Given the description of an element on the screen output the (x, y) to click on. 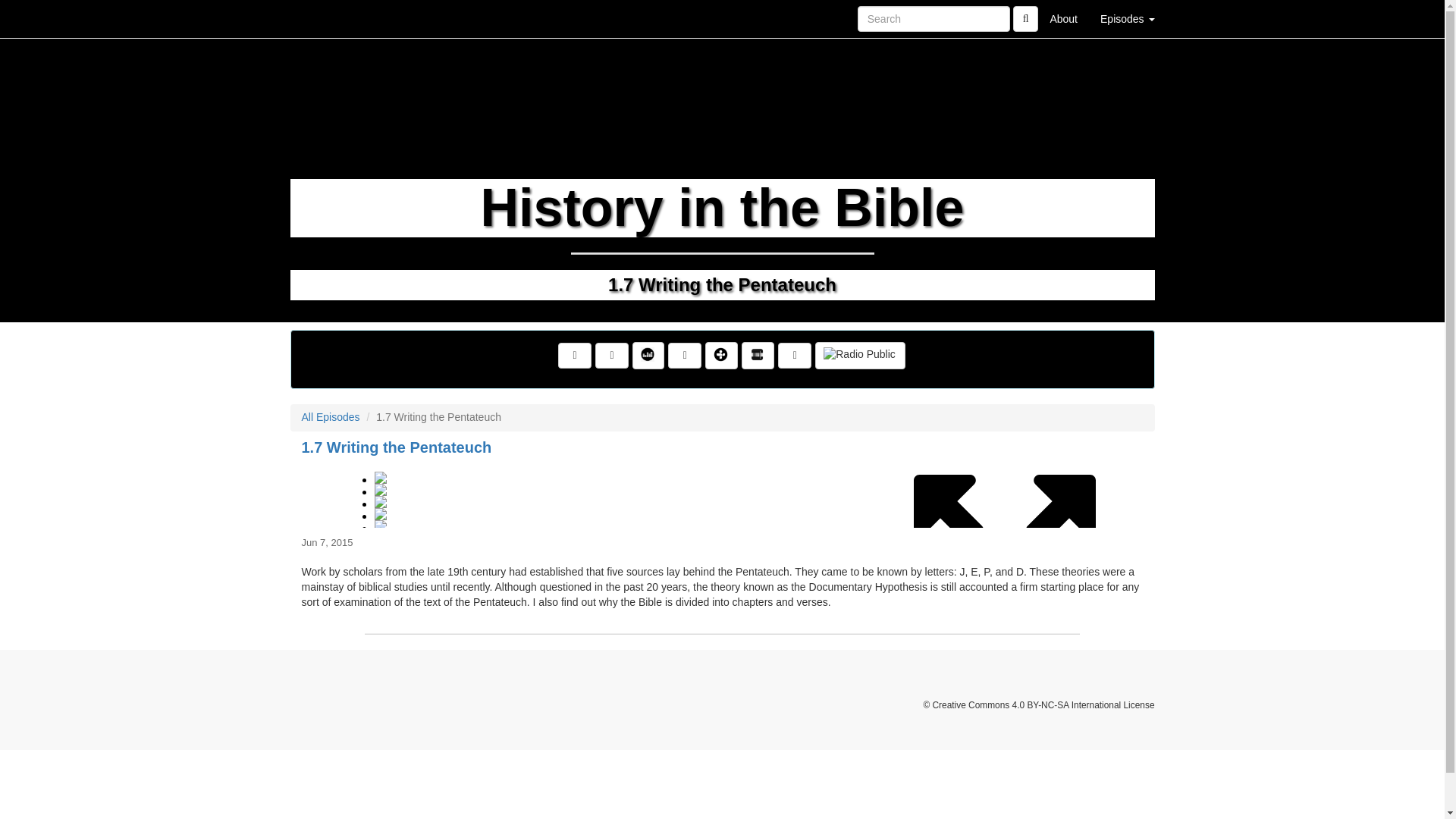
Home Page (320, 18)
Listen on TuneIn (721, 355)
Listen on Stitcher (757, 355)
Listen on Deezer (647, 355)
About (1063, 18)
Episodes (1127, 18)
Listen on Apple Podcasts (684, 355)
1.7 Writing the Pentateuch (721, 493)
Listen on Spotify (793, 355)
Subscribe to RSS Feed (611, 355)
